Given the description of an element on the screen output the (x, y) to click on. 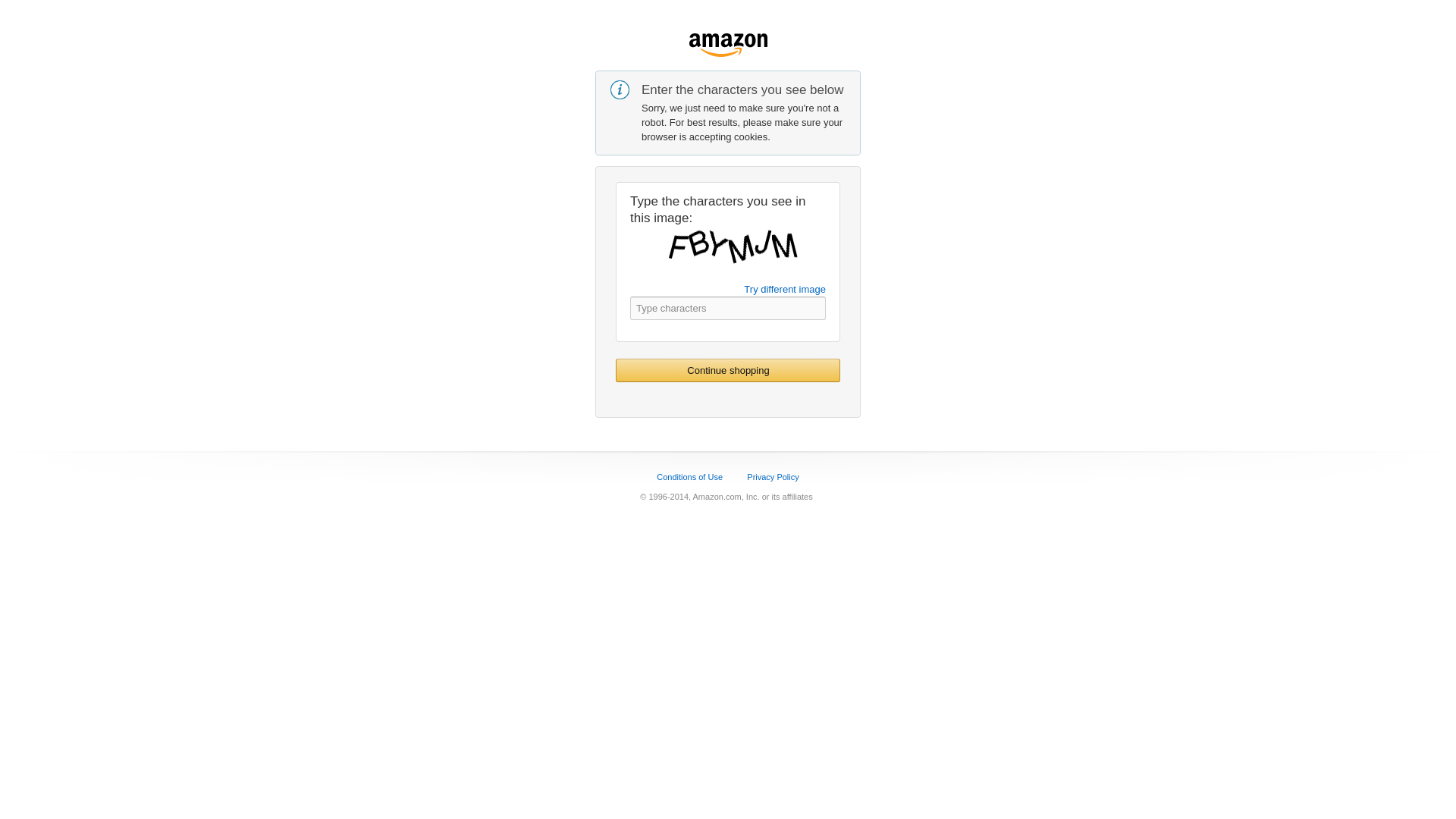
Conditions of Use (689, 476)
Privacy Policy (771, 476)
Try different image (784, 288)
Continue shopping (727, 370)
